Given the description of an element on the screen output the (x, y) to click on. 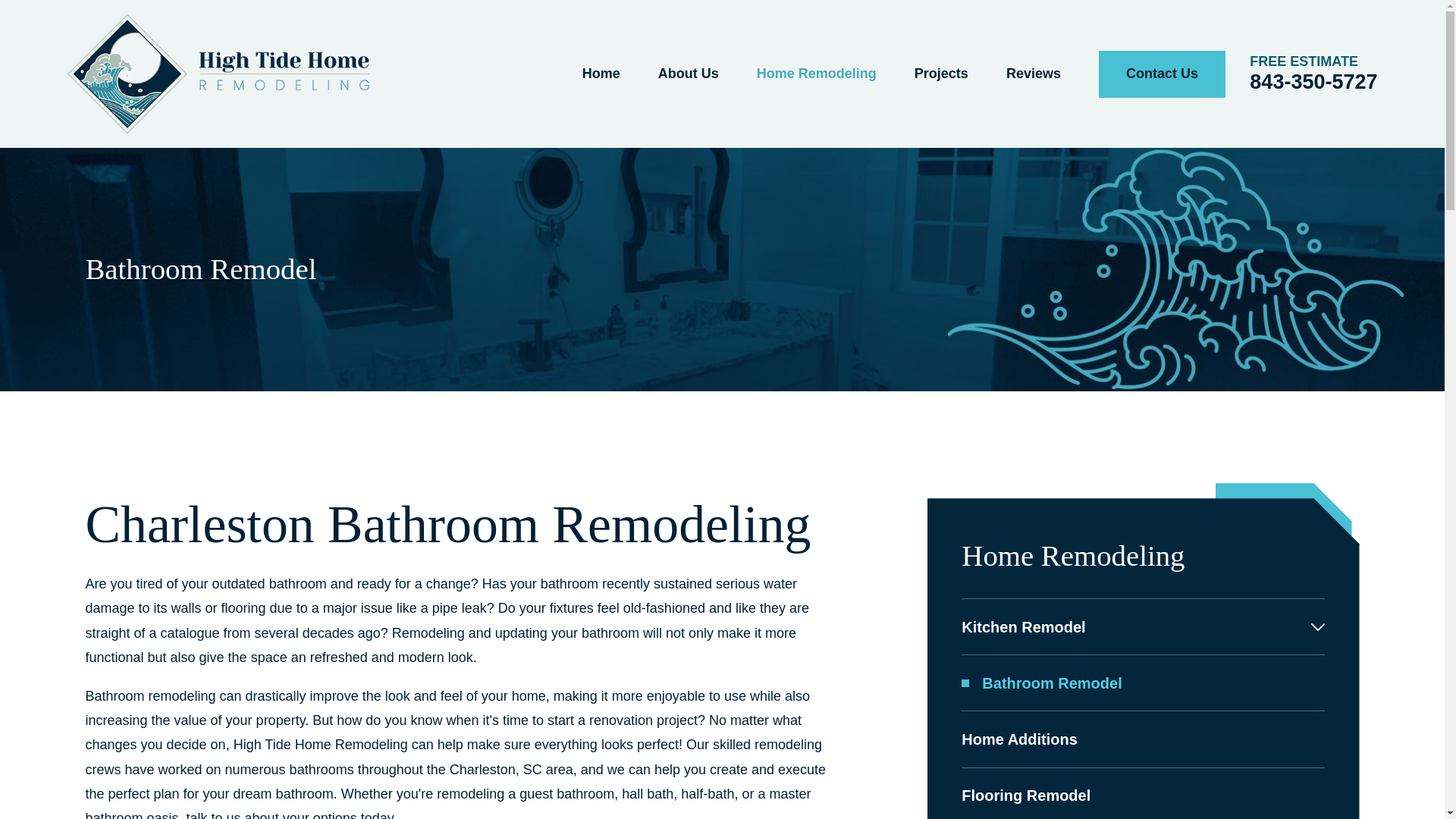
Contact Us (1162, 73)
About Us (688, 73)
Home Remodeling (816, 73)
Reviews (1033, 73)
Open child menu of Kitchen Remodel (1317, 626)
Projects (941, 73)
Home (217, 73)
